Given the description of an element on the screen output the (x, y) to click on. 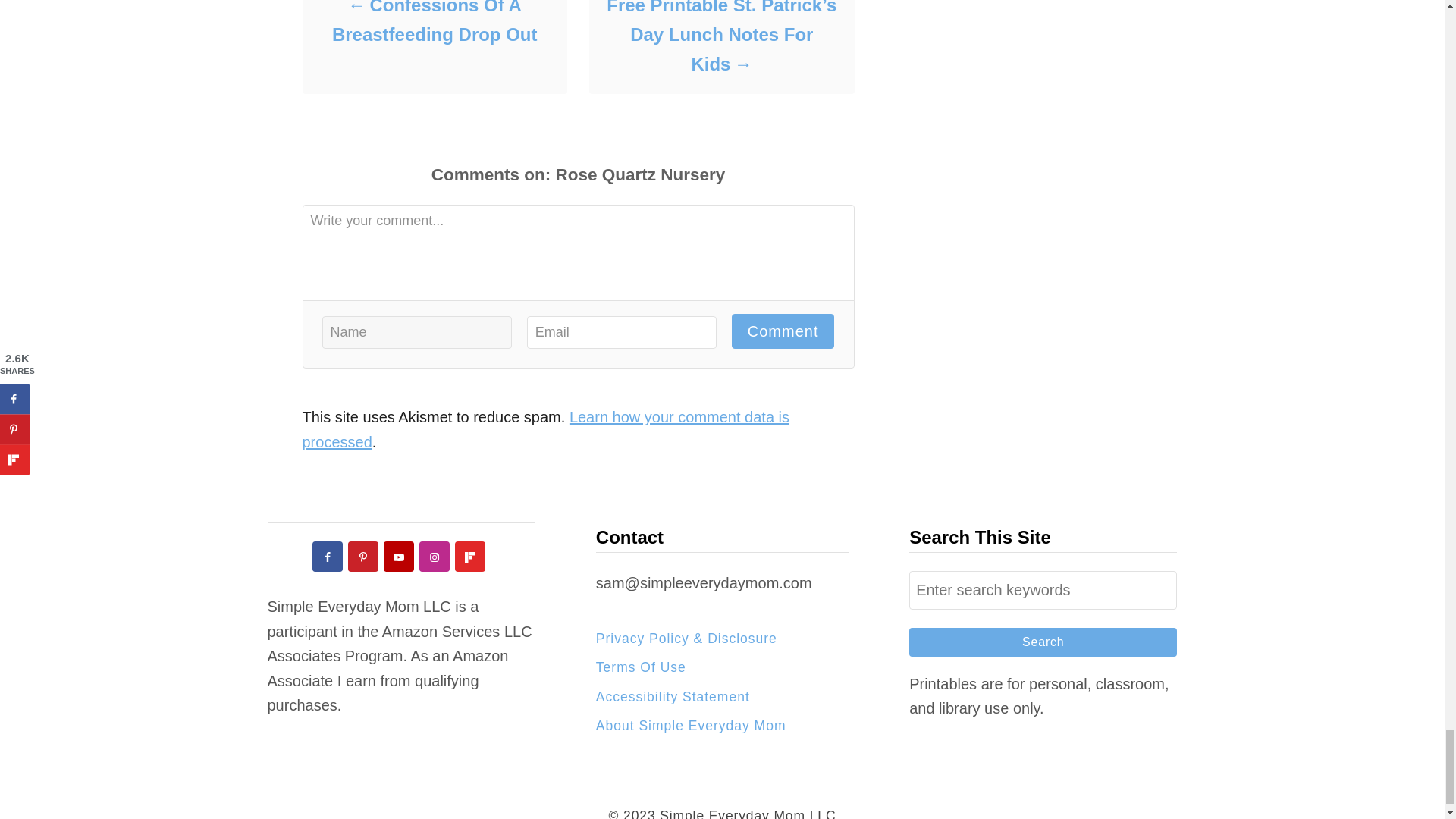
Search (1042, 642)
Search (1042, 642)
